Given the description of an element on the screen output the (x, y) to click on. 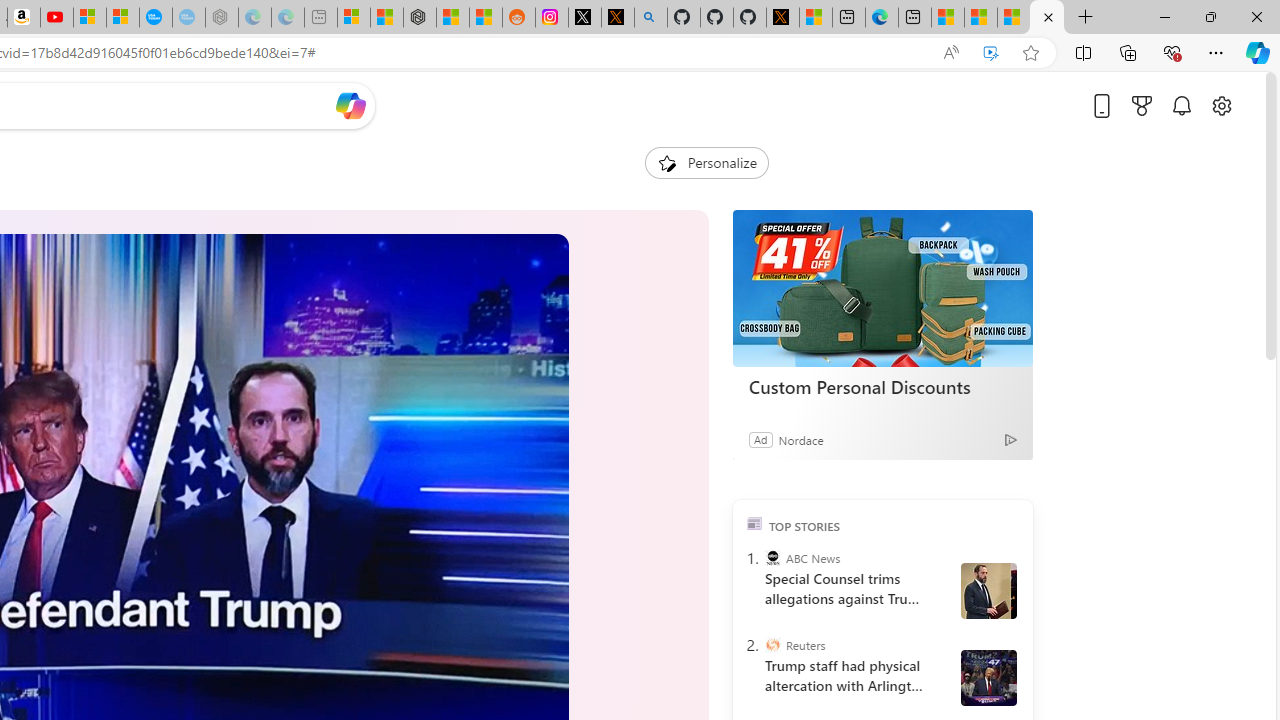
New tab - Sleeping (320, 17)
Log in to X / X (585, 17)
Microsoft account | Microsoft Account Privacy Settings (353, 17)
Nordace (801, 439)
The most popular Google 'how to' searches - Sleeping (188, 17)
ABC News (772, 557)
MSNBC - MSN (981, 17)
Split screen (1083, 52)
New Tab (1085, 17)
